Given the description of an element on the screen output the (x, y) to click on. 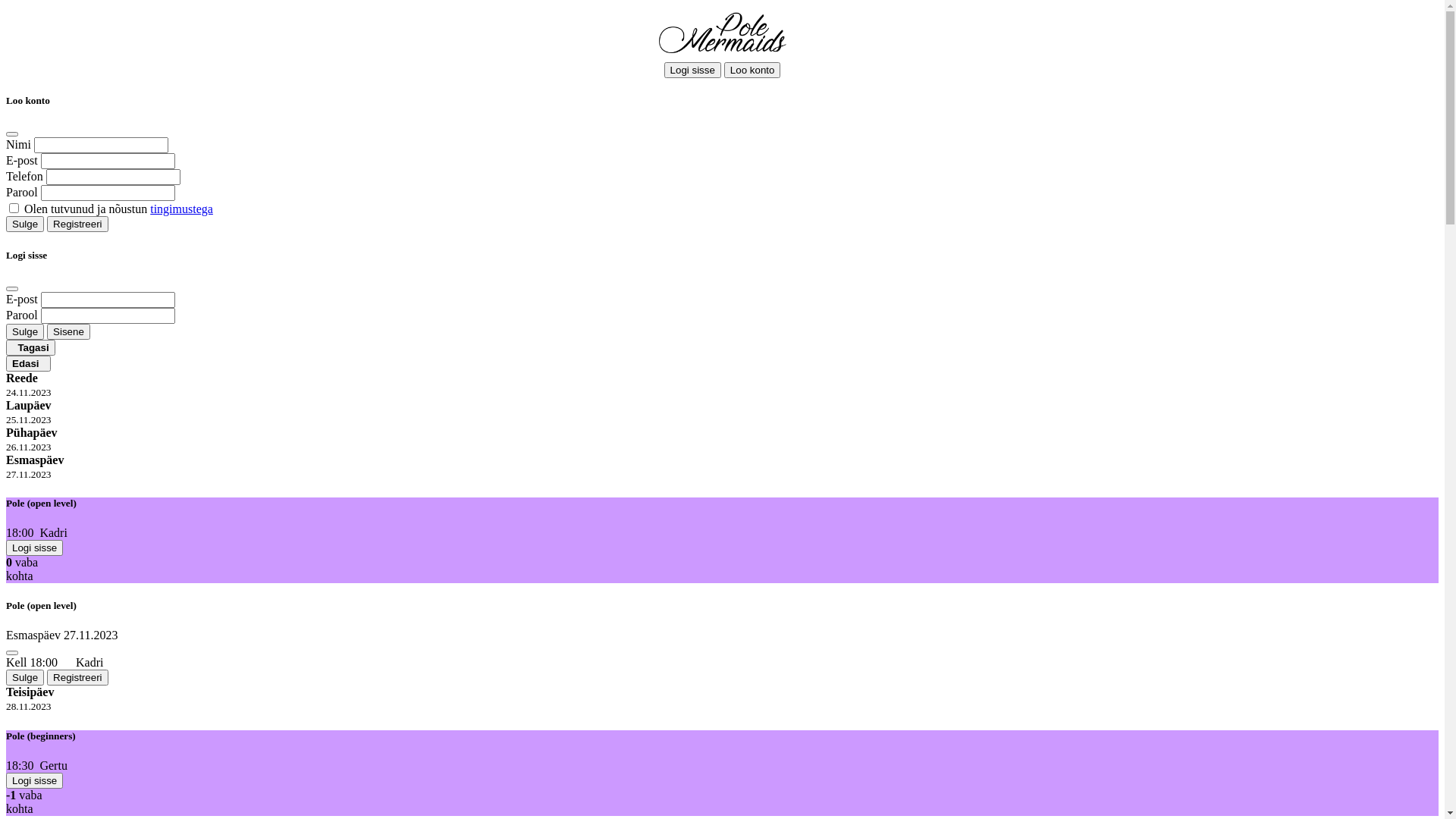
Logi sisse Element type: text (34, 547)
tingimustega Element type: text (181, 208)
Registreeri Element type: text (77, 224)
  Tagasi Element type: text (30, 347)
Loo konto Element type: text (752, 70)
Edasi   Element type: text (28, 363)
Sulge Element type: text (24, 331)
Logi sisse Element type: text (692, 70)
Sulge Element type: text (24, 677)
Sulge Element type: text (24, 224)
Logi sisse Element type: text (34, 780)
Sisene Element type: text (68, 331)
Registreeri Element type: text (77, 677)
